Given the description of an element on the screen output the (x, y) to click on. 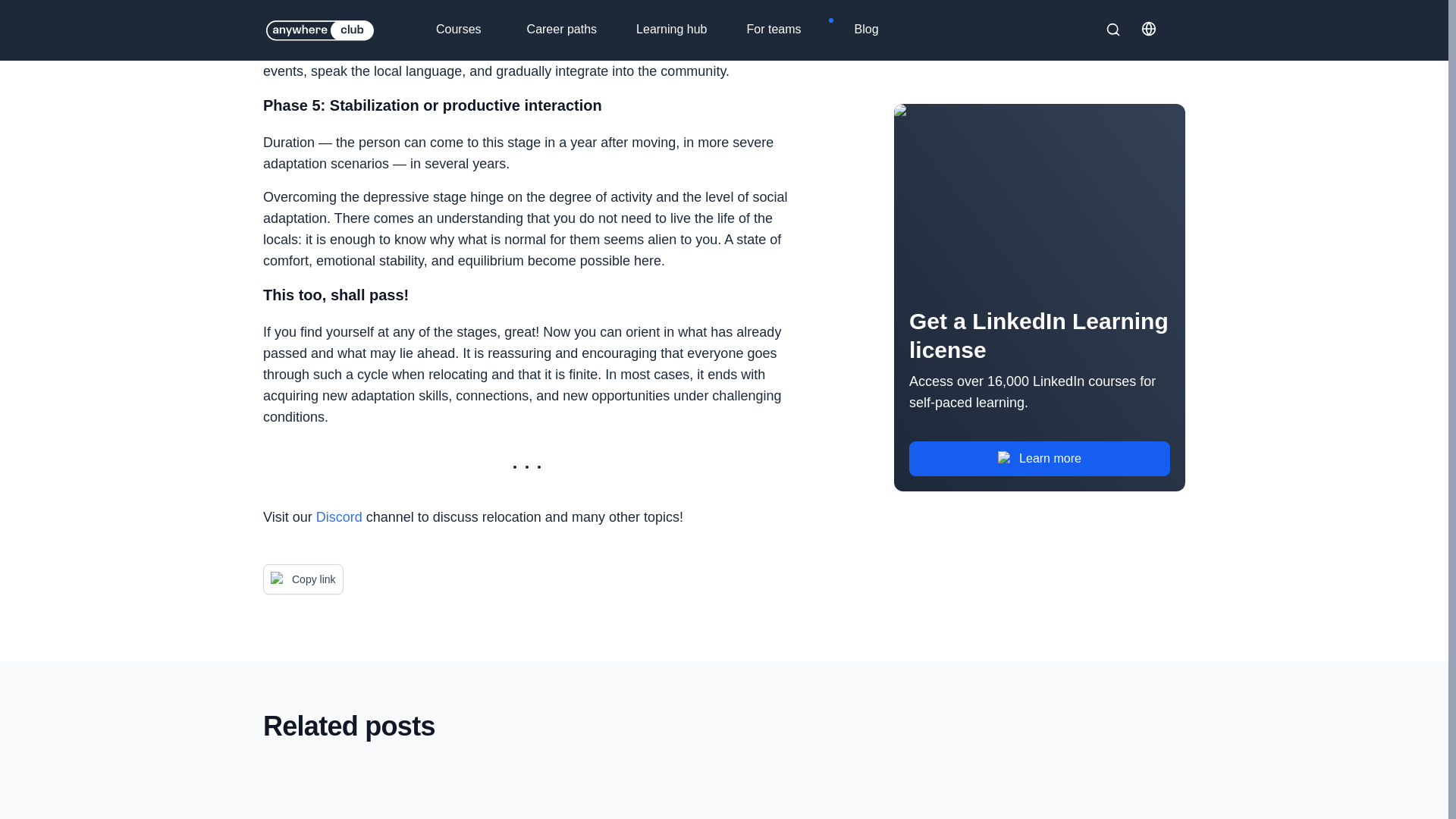
Copy link (303, 579)
Discord (338, 516)
